Given the description of an element on the screen output the (x, y) to click on. 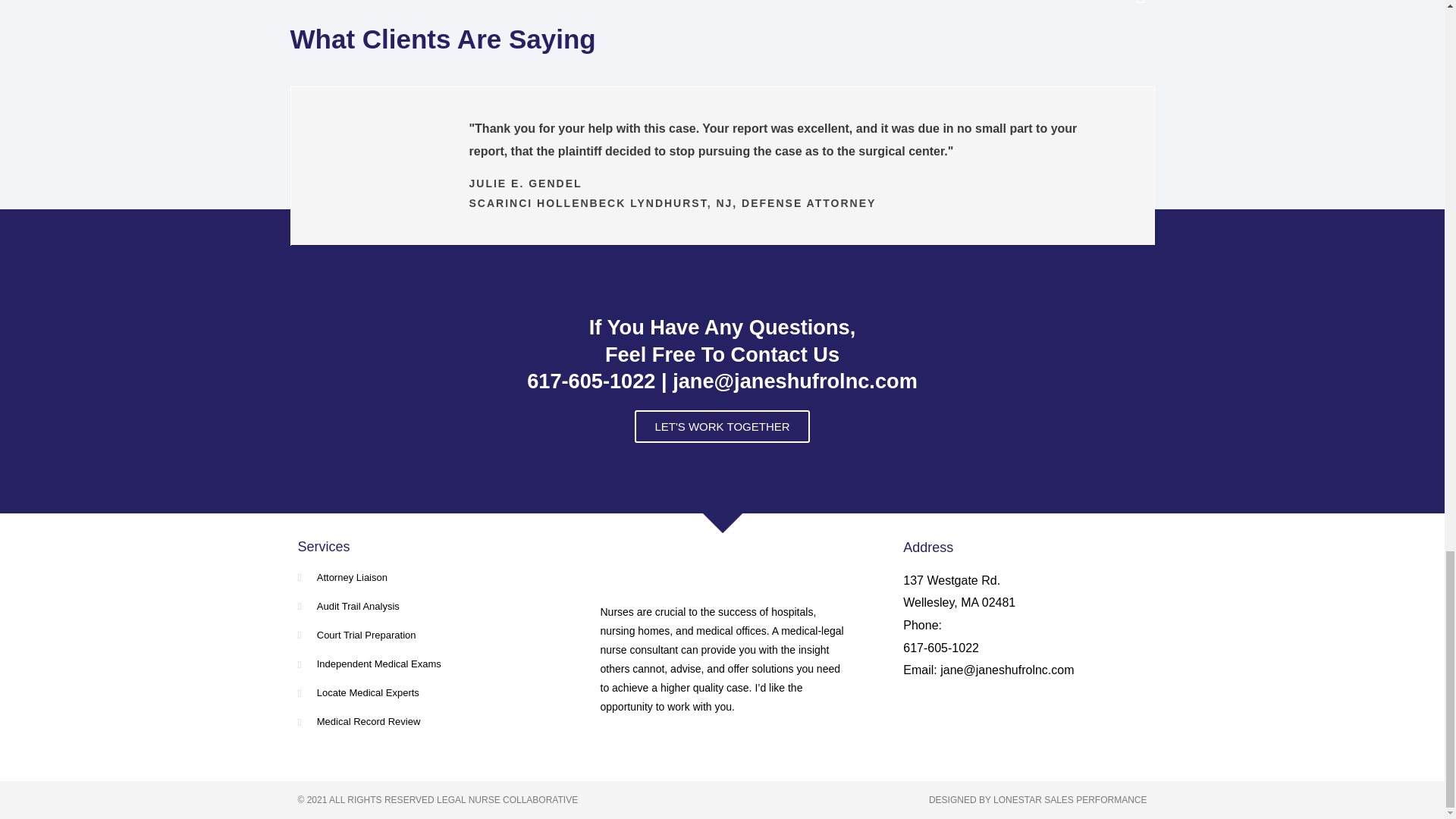
Medical Record Review (419, 721)
LET'S WORK TOGETHER (721, 426)
Attorney Liaison (419, 577)
Locate Medical Experts (419, 692)
Audit Trail Analysis (419, 606)
Independent Medical Exams (419, 664)
Court Trial Preparation (419, 635)
